Given the description of an element on the screen output the (x, y) to click on. 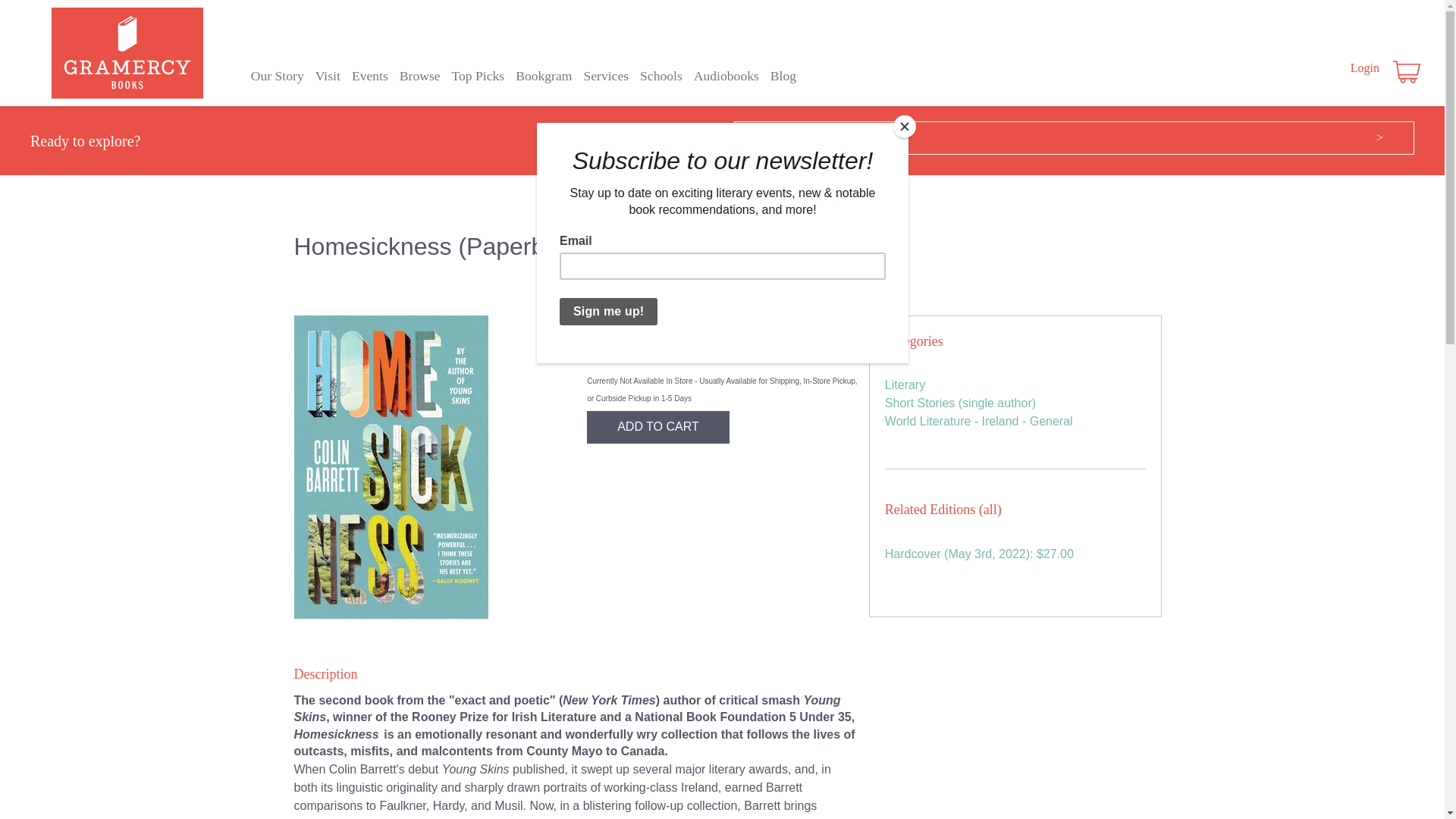
Audiobooks (726, 75)
SEARCH (1039, 137)
World Literature - Ireland - General (979, 420)
SEARCH (1039, 137)
Add to Cart (657, 427)
Add to Cart (657, 427)
Literary (904, 384)
Bookgram (543, 75)
Colin Barrett (642, 323)
